Given the description of an element on the screen output the (x, y) to click on. 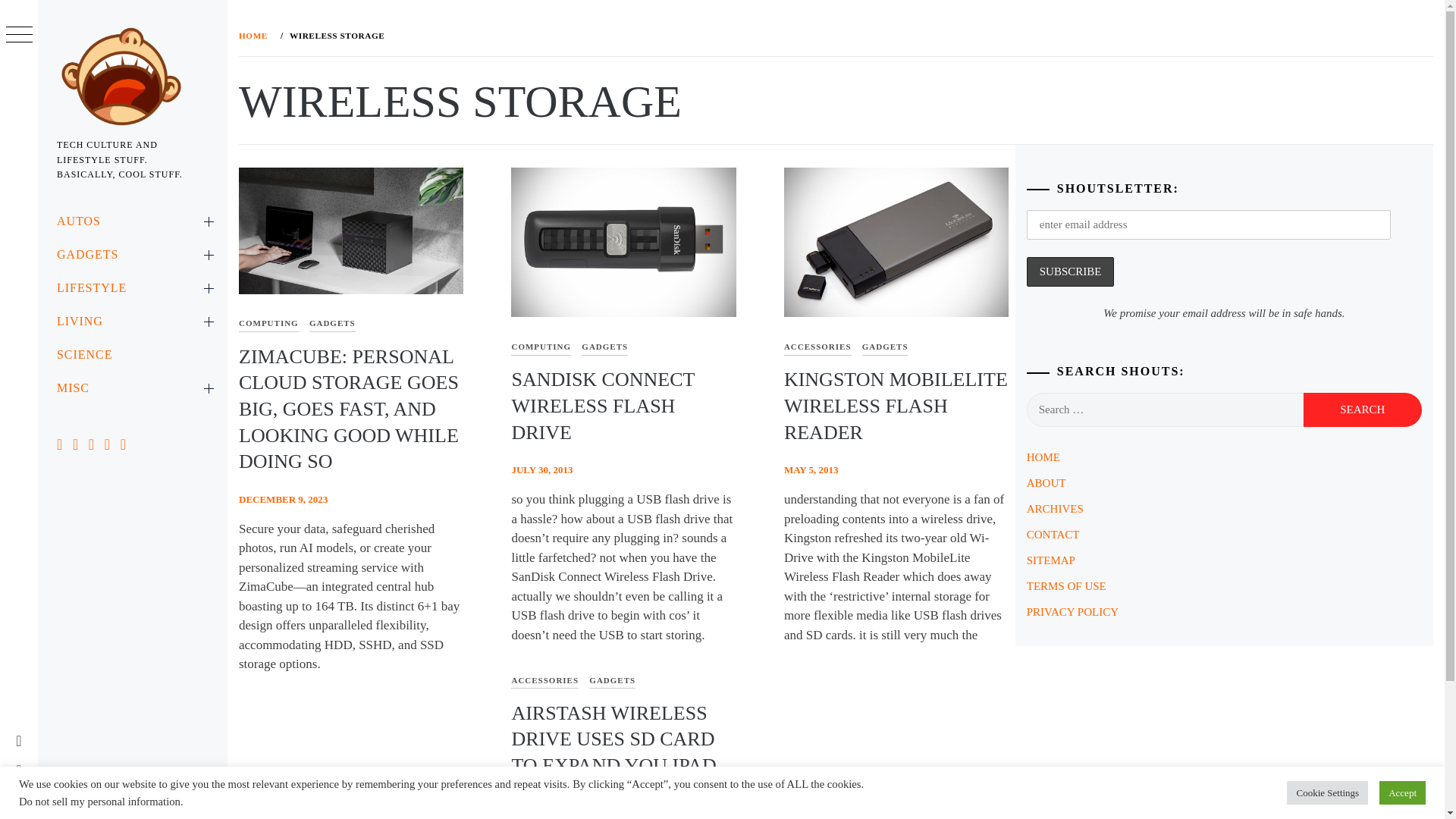
LIFESTYLE (132, 287)
SCIENCE (132, 354)
MISC (132, 387)
SUBSCRIBE (1070, 271)
LIVING (132, 321)
GADGETS (132, 254)
Search (1362, 409)
Search (1362, 409)
AUTOS (132, 221)
